Given the description of an element on the screen output the (x, y) to click on. 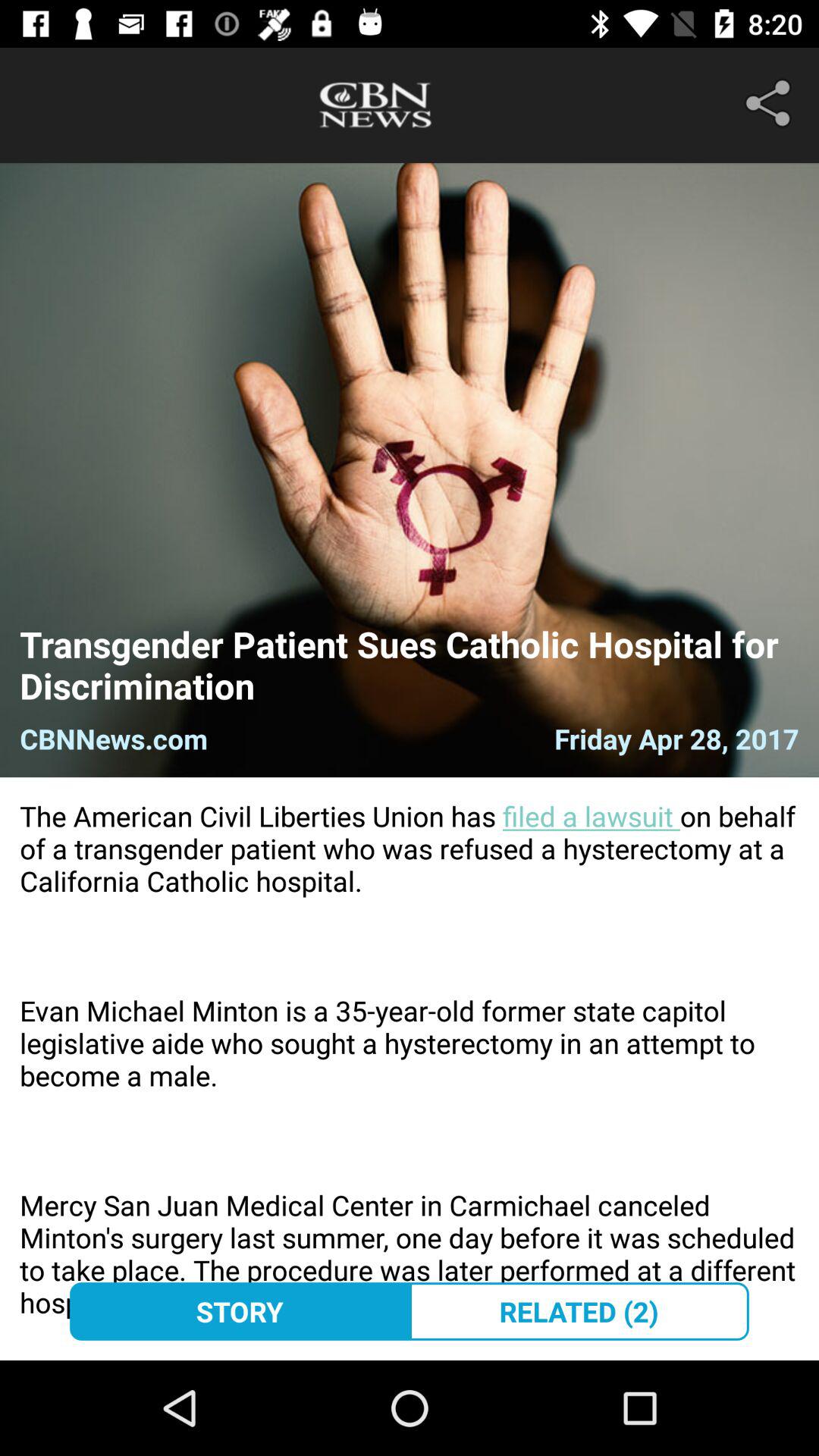
swipe until the american civil (409, 1068)
